Given the description of an element on the screen output the (x, y) to click on. 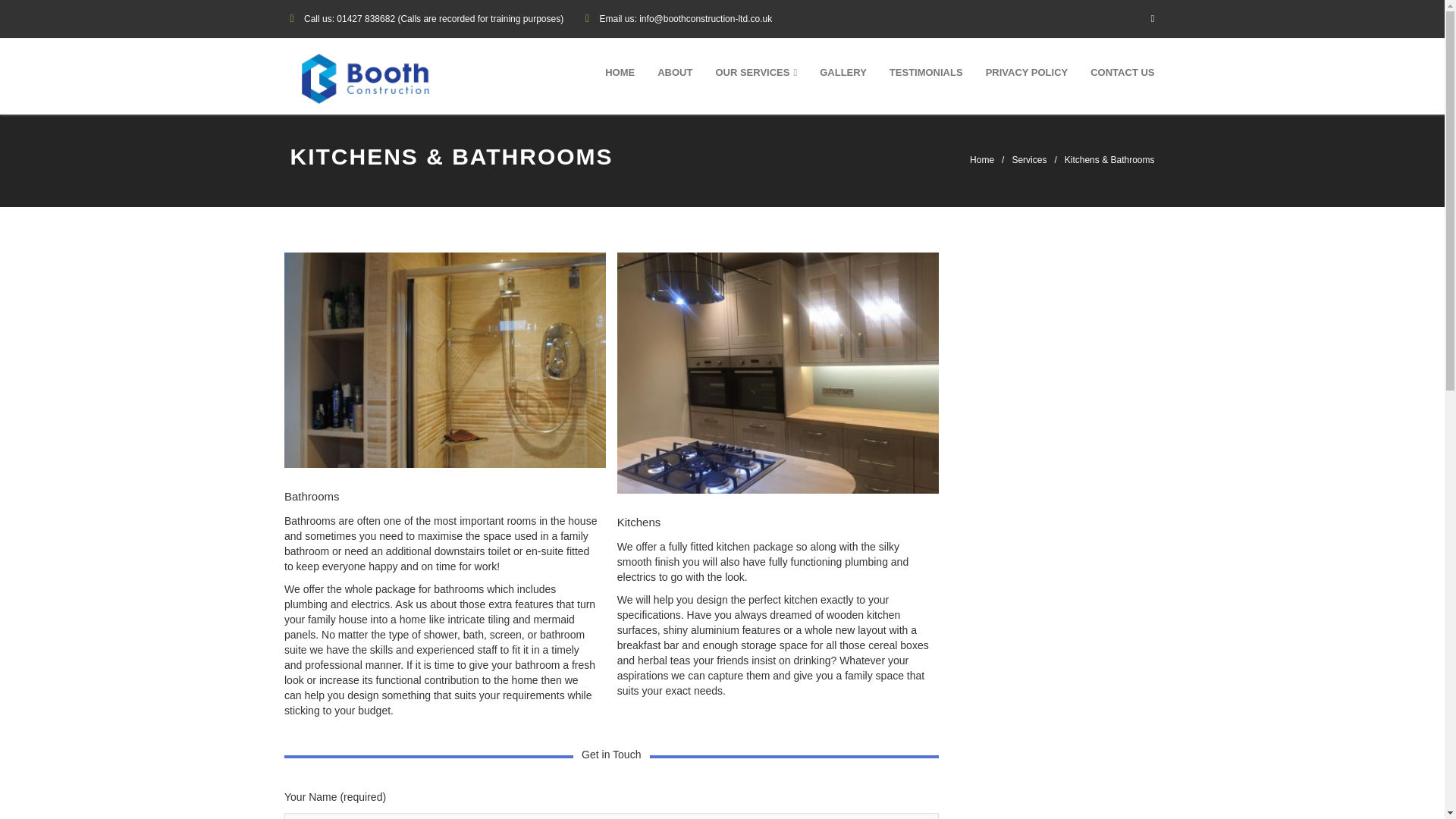
boothconstruction (365, 78)
Gallery (842, 72)
Services (1028, 159)
Our Services (755, 72)
PRIVACY POLICY (1027, 72)
TESTIMONIALS (925, 72)
GALLERY (842, 72)
Home (981, 159)
CONTACT US (1122, 72)
OUR SERVICES (755, 72)
